Given the description of an element on the screen output the (x, y) to click on. 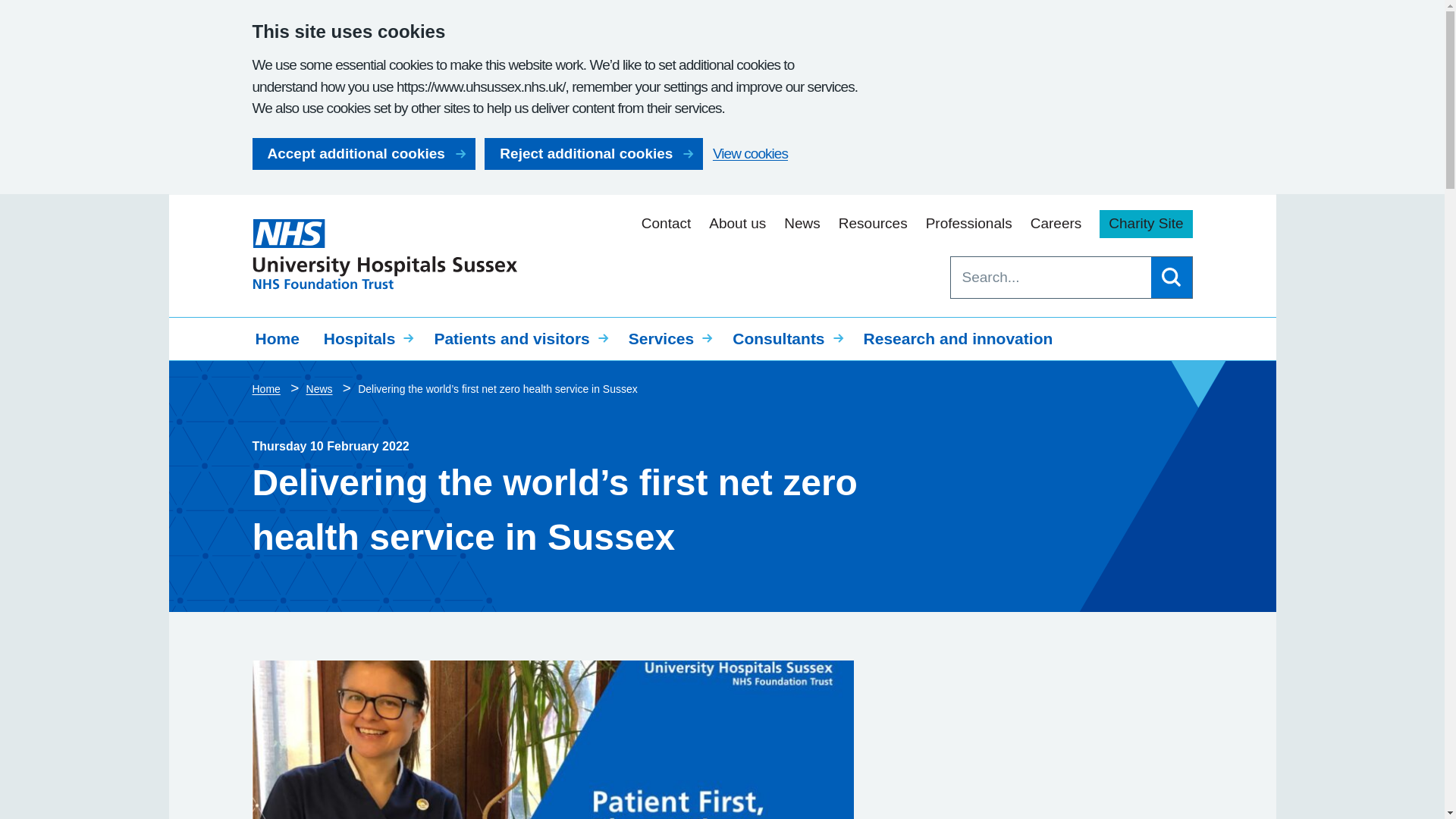
Go to Home. (266, 388)
View cookies (750, 153)
Accept additional cookies (362, 153)
Reject additional cookies (593, 153)
Home (277, 338)
Resources (872, 223)
Go to News. (320, 388)
Contact (666, 223)
University Hospitals Sussex NHS Foundation Trust Homepage (383, 254)
Patients and visitors (518, 338)
Careers (1055, 223)
News (802, 223)
Charity Site (1145, 223)
Professionals (968, 223)
Hospitals (366, 338)
